Given the description of an element on the screen output the (x, y) to click on. 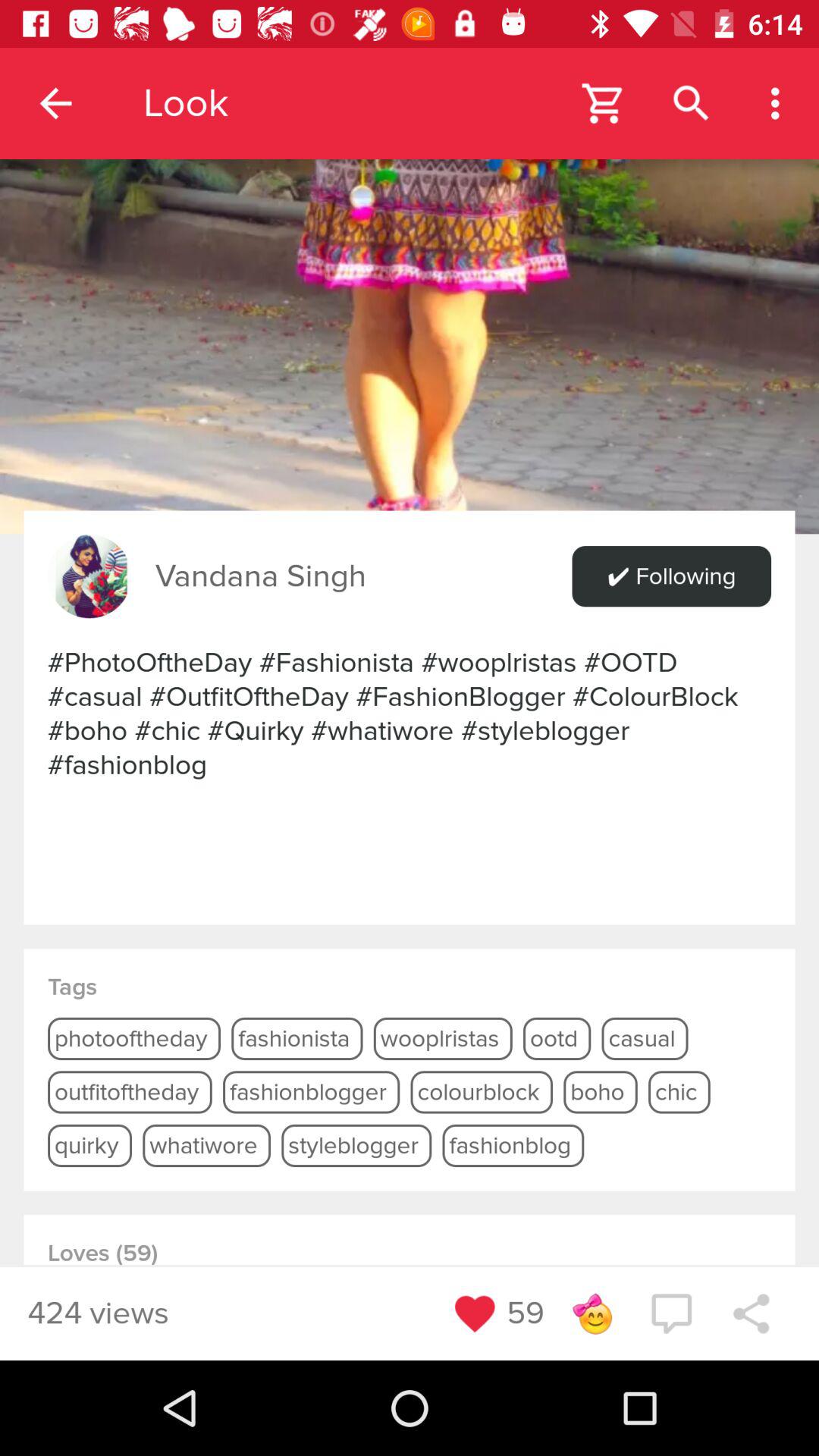
choose the item to the left of the look app (55, 103)
